Given the description of an element on the screen output the (x, y) to click on. 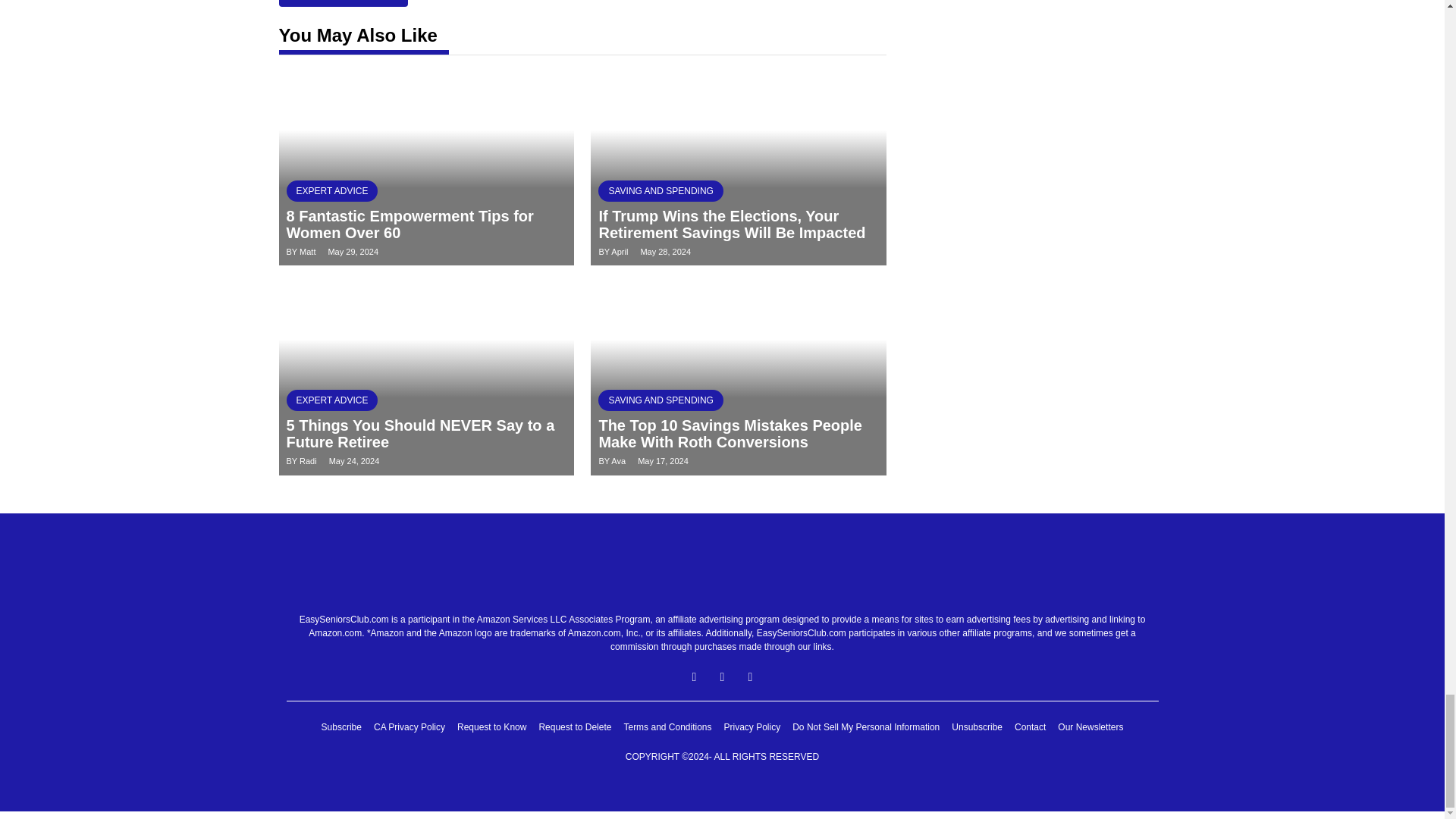
8 Fantastic Empowerment Tips for Women Over 60 (410, 224)
5 Things You Should NEVER Say to a Future Retiree (420, 433)
Post Comment (343, 3)
Post Comment (343, 3)
